Given the description of an element on the screen output the (x, y) to click on. 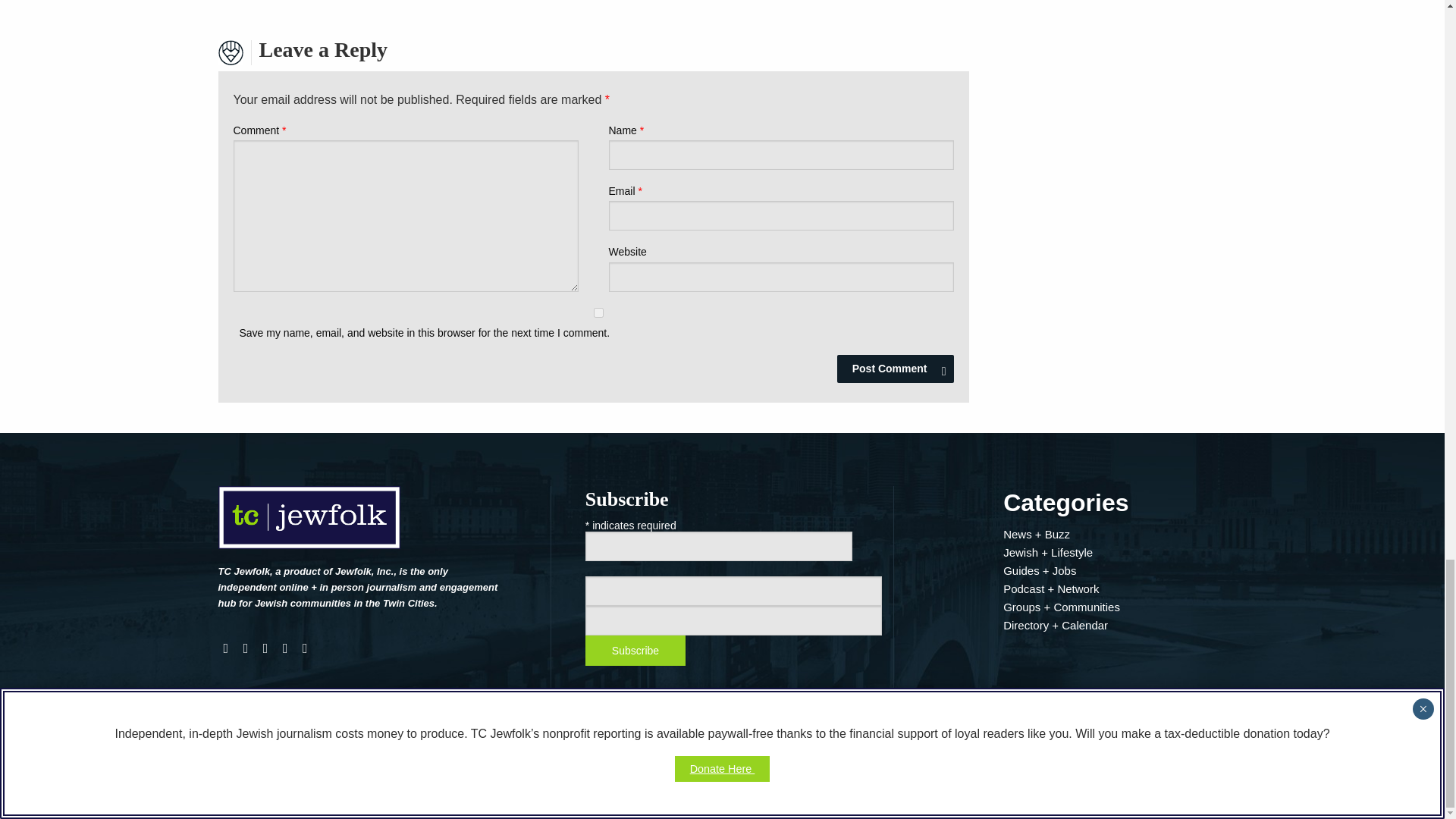
yes (597, 312)
Subscribe (635, 650)
TC Jewfolk (309, 523)
Post Comment (895, 368)
